Given the description of an element on the screen output the (x, y) to click on. 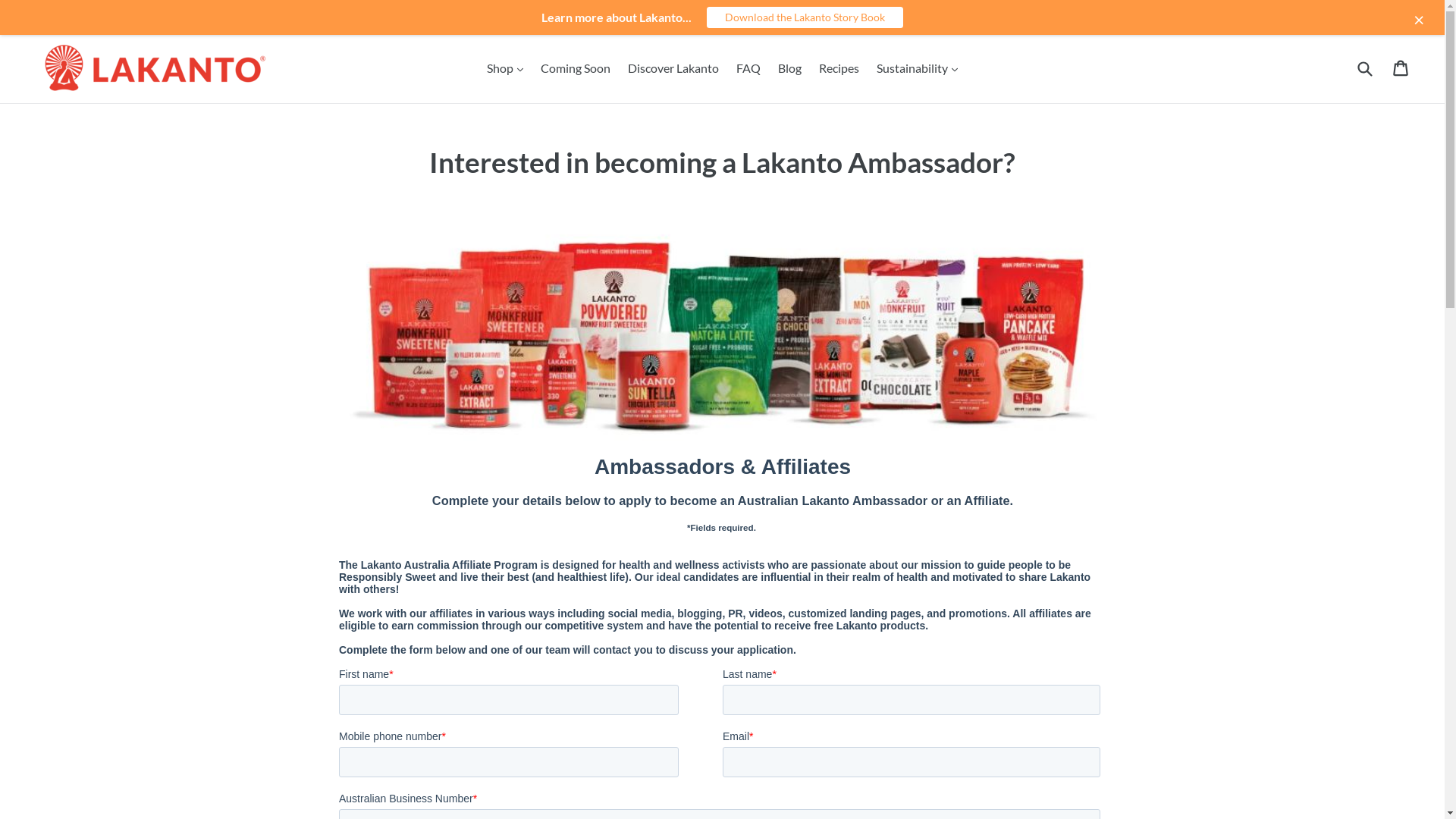
Submit Element type: text (1363, 68)
Cart
Cart Element type: text (1401, 67)
Discover Lakanto Element type: text (673, 67)
Recipes Element type: text (838, 67)
Download the Lakanto Story Book Element type: text (804, 17)
Blog Element type: text (789, 67)
Coming Soon Element type: text (575, 67)
FAQ Element type: text (748, 67)
